Given the description of an element on the screen output the (x, y) to click on. 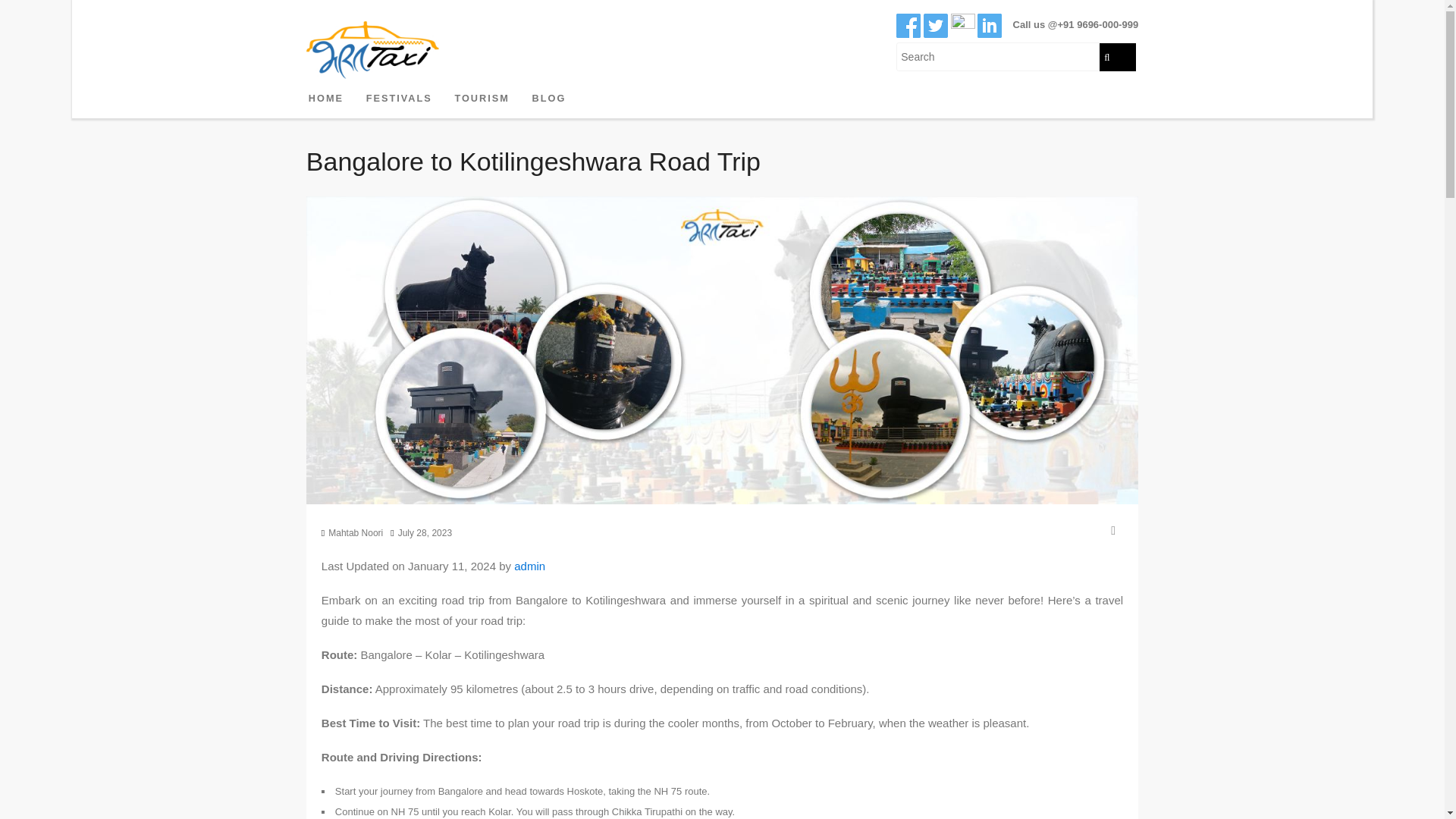
July 28, 2023 (424, 532)
SKIP TO CONTENT (351, 87)
View all posts by Mahtab Noori (355, 532)
BLOG (548, 98)
FESTIVALS (398, 98)
2:16 pm (424, 532)
Mahtab Noori (355, 532)
TOURISM (481, 98)
HOME (325, 98)
Skip to content (351, 87)
